Given the description of an element on the screen output the (x, y) to click on. 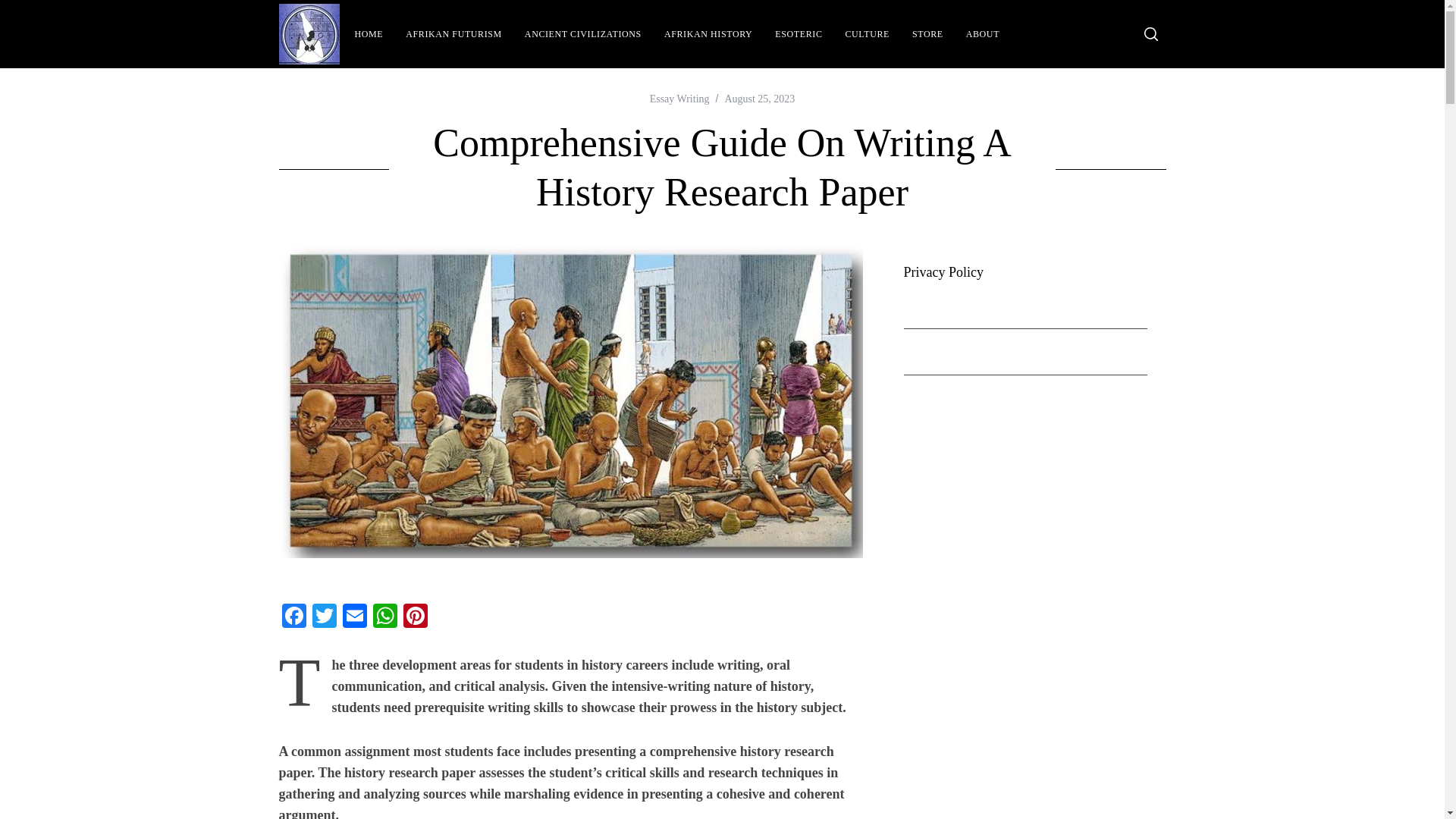
HOME (368, 34)
Email (354, 617)
Pinterest (415, 617)
WhatsApp (384, 617)
ANCIENT CIVILIZATIONS (582, 34)
Twitter (323, 617)
Email (354, 617)
Twitter (323, 617)
AFRIKAN HISTORY (707, 34)
WhatsApp (384, 617)
Essay Writing (679, 98)
STORE (928, 34)
CULTURE (867, 34)
ESOTERIC (797, 34)
ABOUT (982, 34)
